Given the description of an element on the screen output the (x, y) to click on. 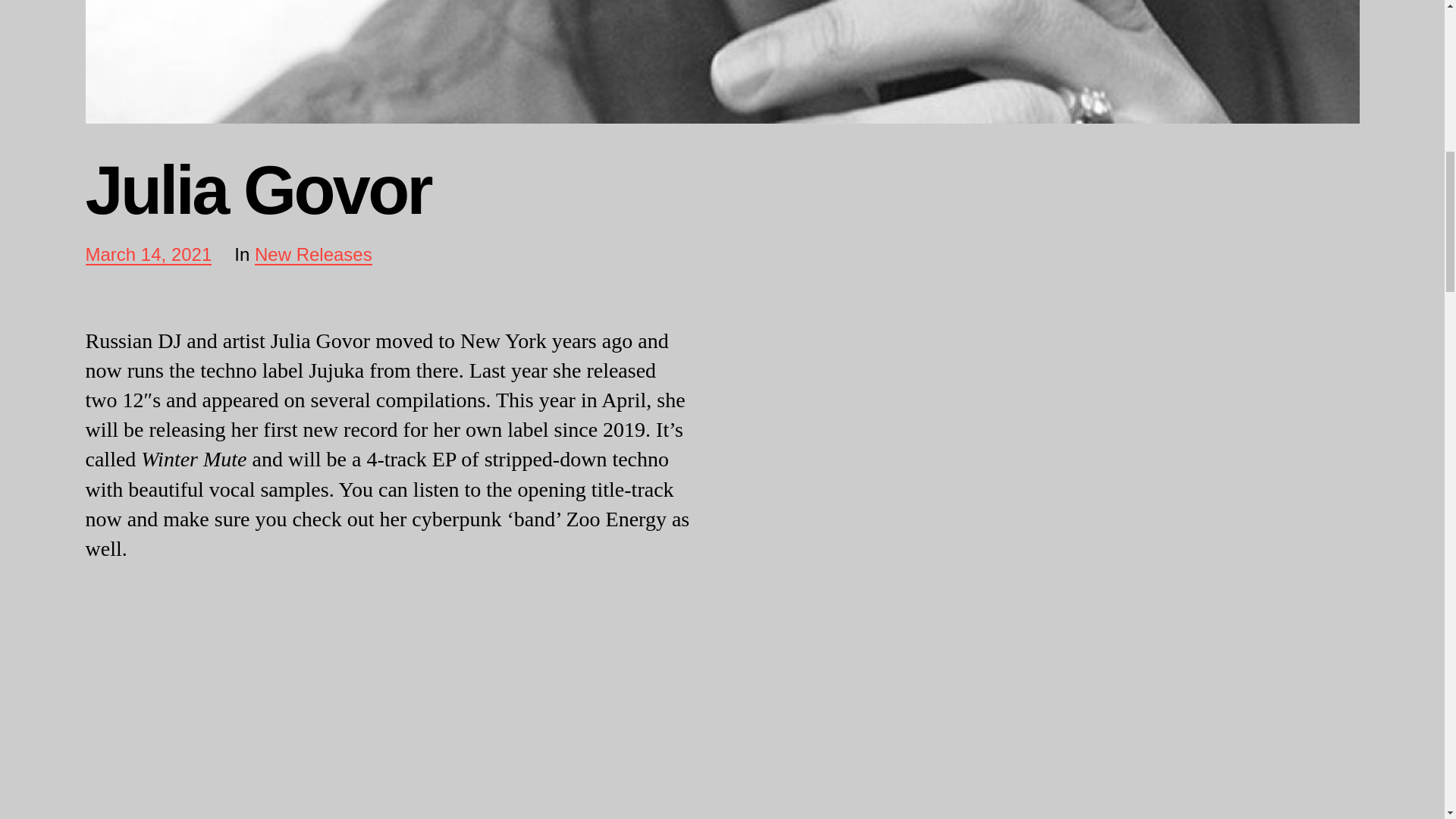
New Releases (147, 255)
